Given the description of an element on the screen output the (x, y) to click on. 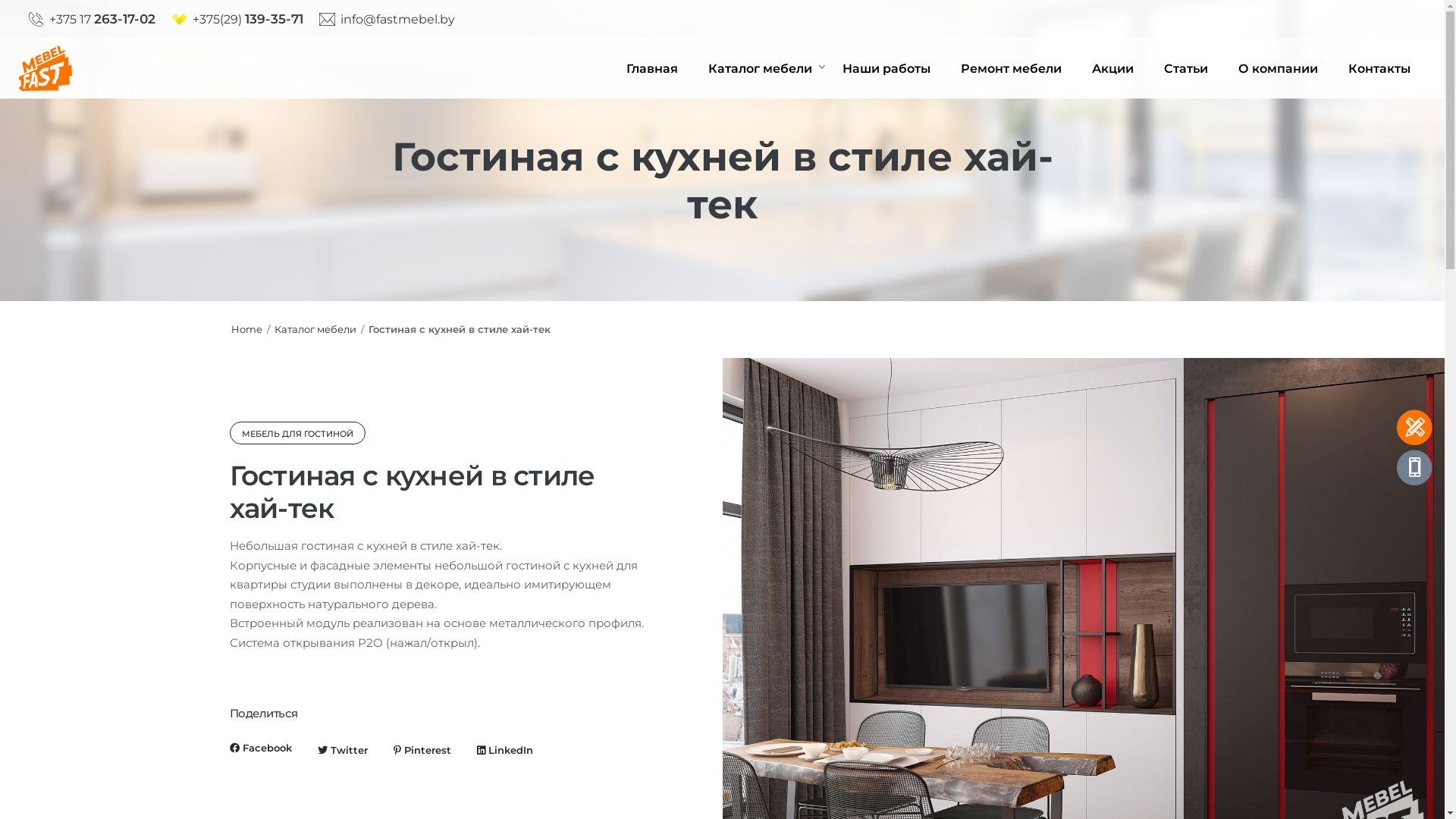
+375(29) 139-35-71 Element type: text (238, 19)
+375 17 263-17-02 Element type: text (92, 19)
Pinterest Element type: text (421, 750)
Home Element type: text (245, 329)
info@fastmebel.by Element type: text (388, 19)
Facebook Element type: text (260, 747)
LinkedIn Element type: text (504, 750)
LiveInternet Element type: hover (242, 756)
Twitter Element type: text (341, 750)
Skip to content Element type: text (0, 0)
